Given the description of an element on the screen output the (x, y) to click on. 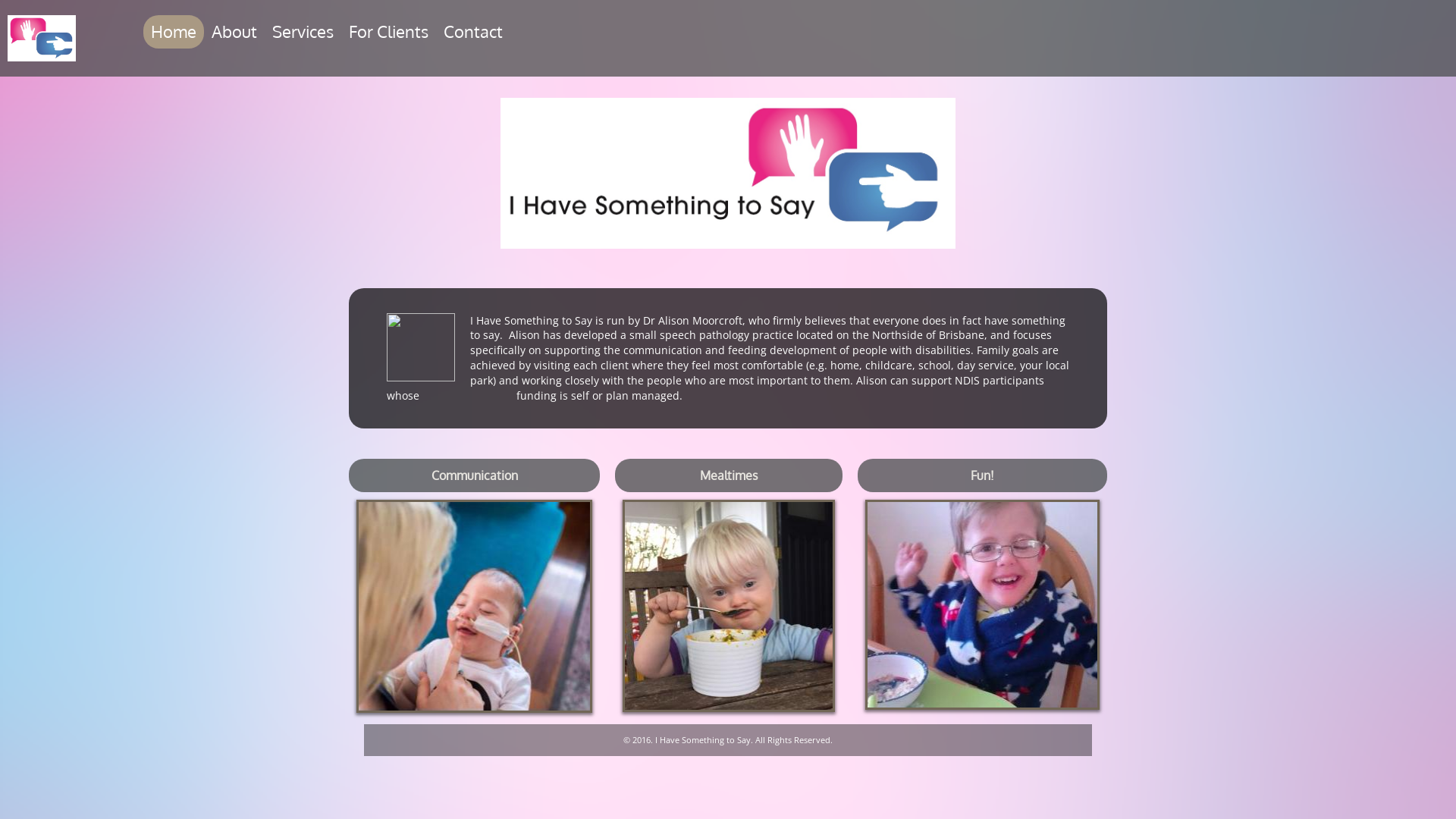
For Clients Element type: text (388, 31)
Contact Element type: text (472, 31)
Services Element type: text (301, 31)
Home Element type: text (172, 31)
About Element type: text (233, 31)
